Given the description of an element on the screen output the (x, y) to click on. 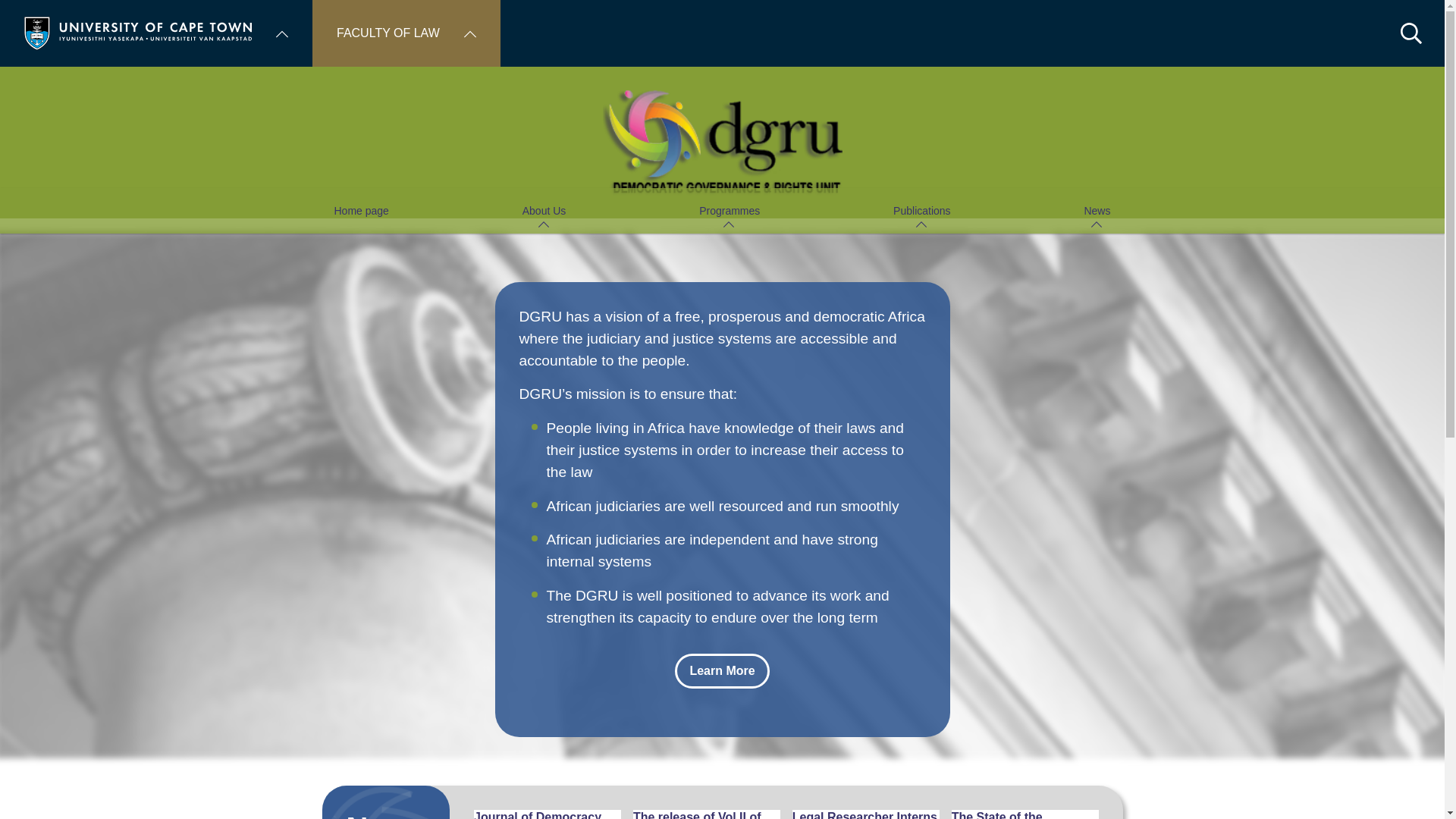
FACULTY OF LAW (406, 33)
Submit (32, 15)
Home (137, 31)
